Given the description of an element on the screen output the (x, y) to click on. 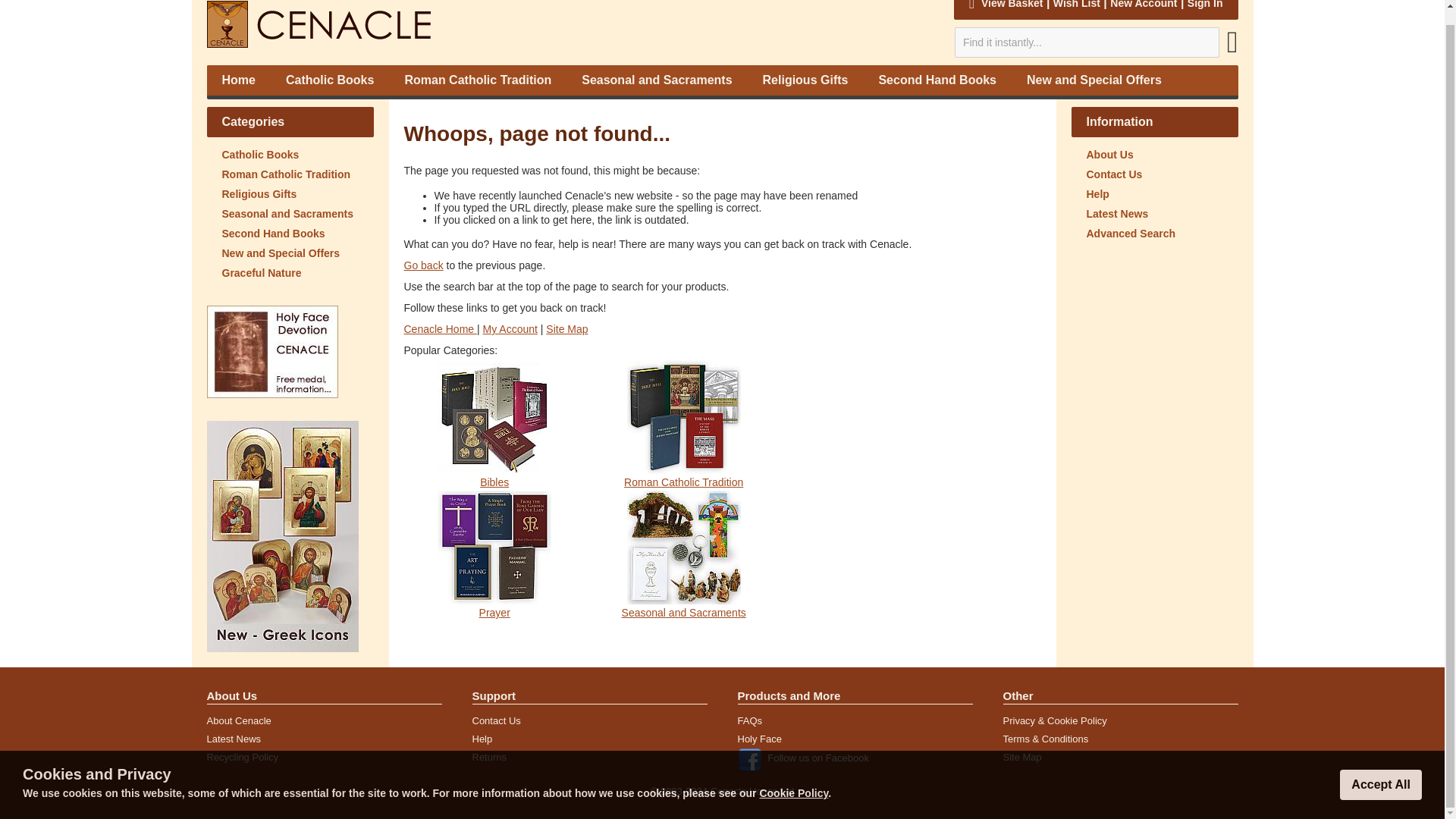
Catholic Books (289, 154)
Latest News (1153, 213)
Graceful Nature (289, 272)
Prayer (495, 612)
Follow us on Facebook (818, 757)
Home (237, 79)
Latest News (233, 738)
Bibles (494, 481)
Go back (422, 265)
New and Special Offers (289, 252)
